Given the description of an element on the screen output the (x, y) to click on. 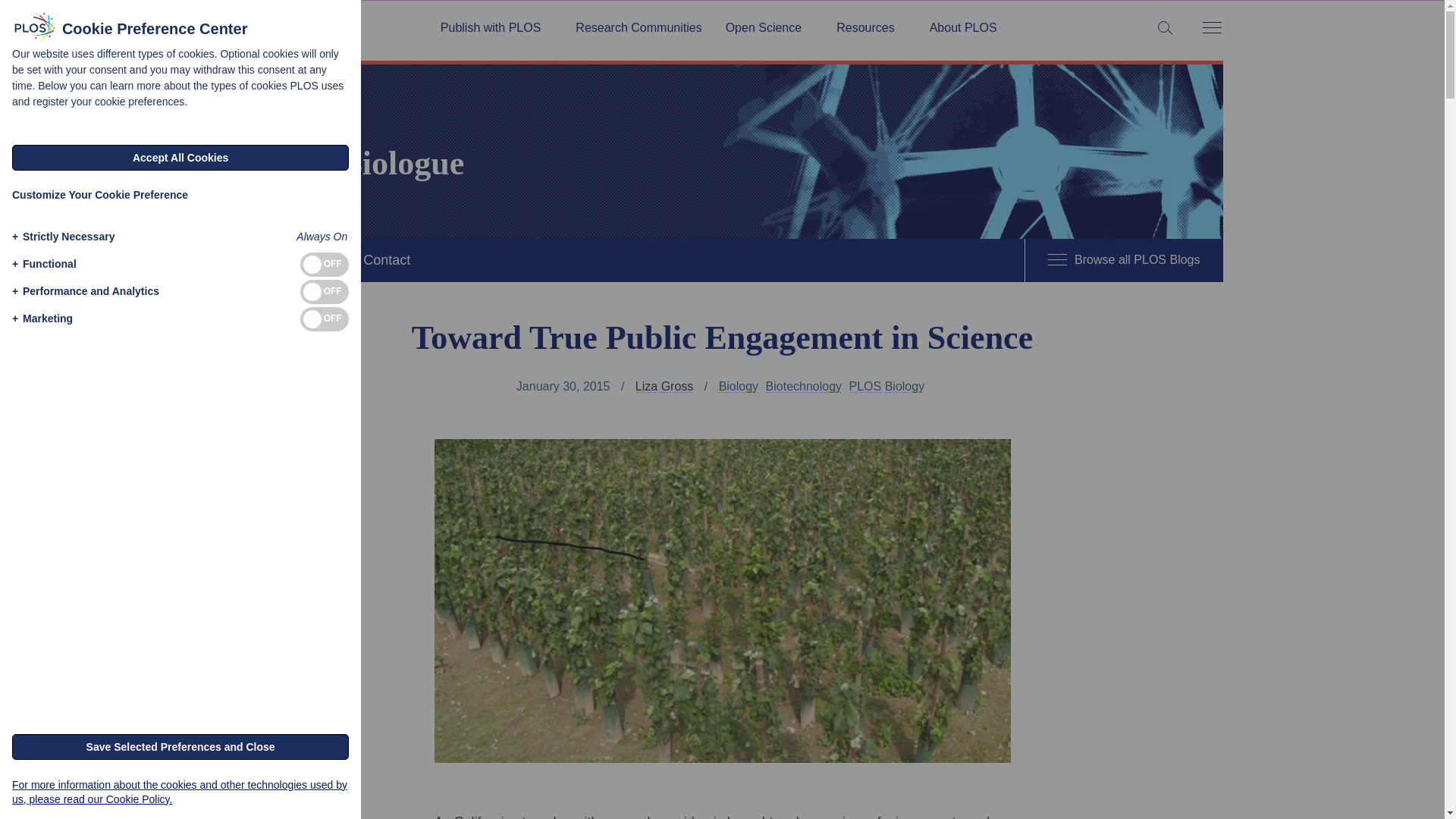
Research Communities (638, 28)
Menu (1211, 28)
Resources (870, 28)
Search (15, 15)
Publish with PLOS (496, 28)
About PLOS (962, 28)
Open Science (769, 28)
